Given the description of an element on the screen output the (x, y) to click on. 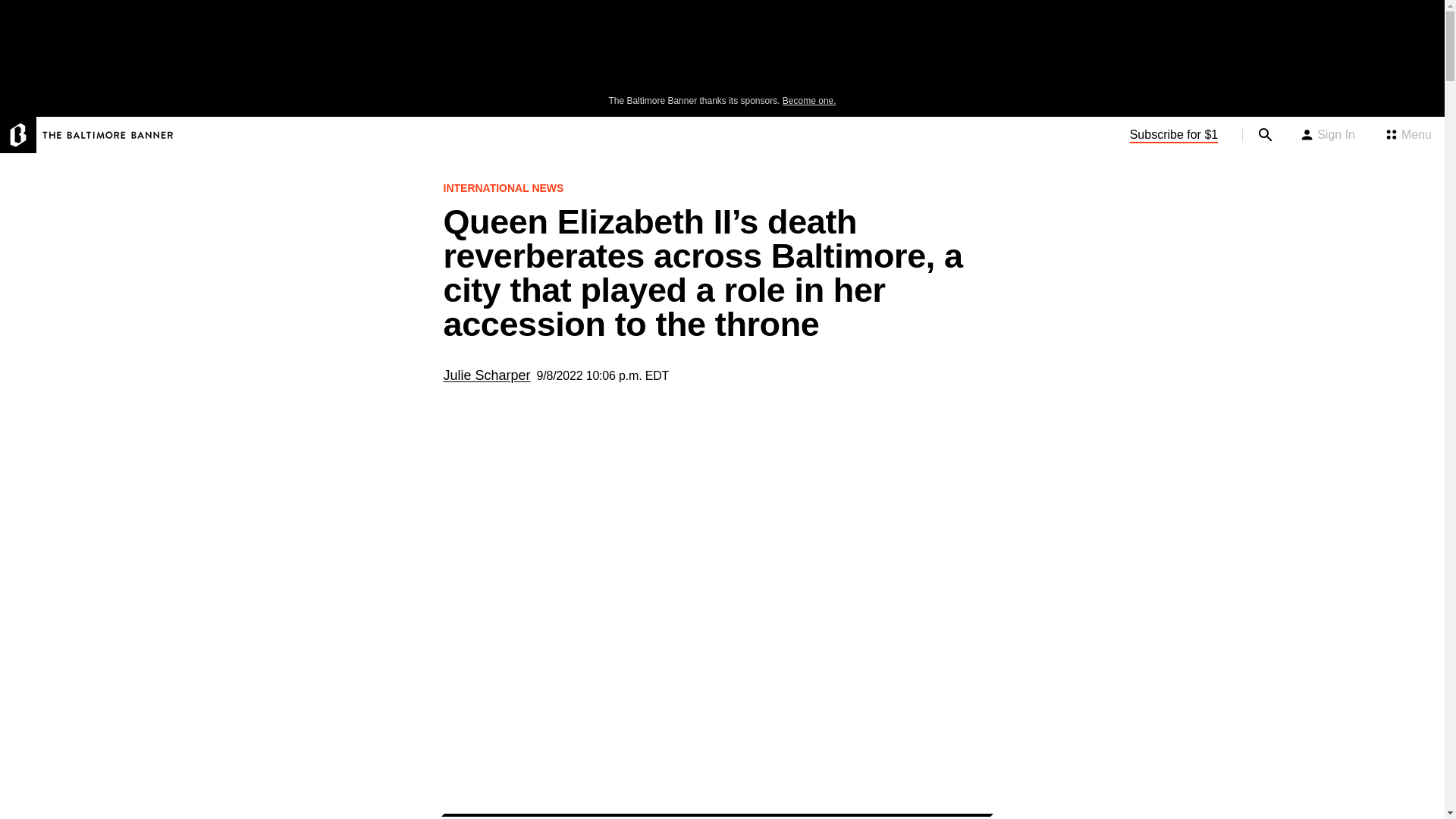
Become one. (809, 100)
Sign In (1327, 135)
INTERNATIONAL NEWS (507, 188)
